Given the description of an element on the screen output the (x, y) to click on. 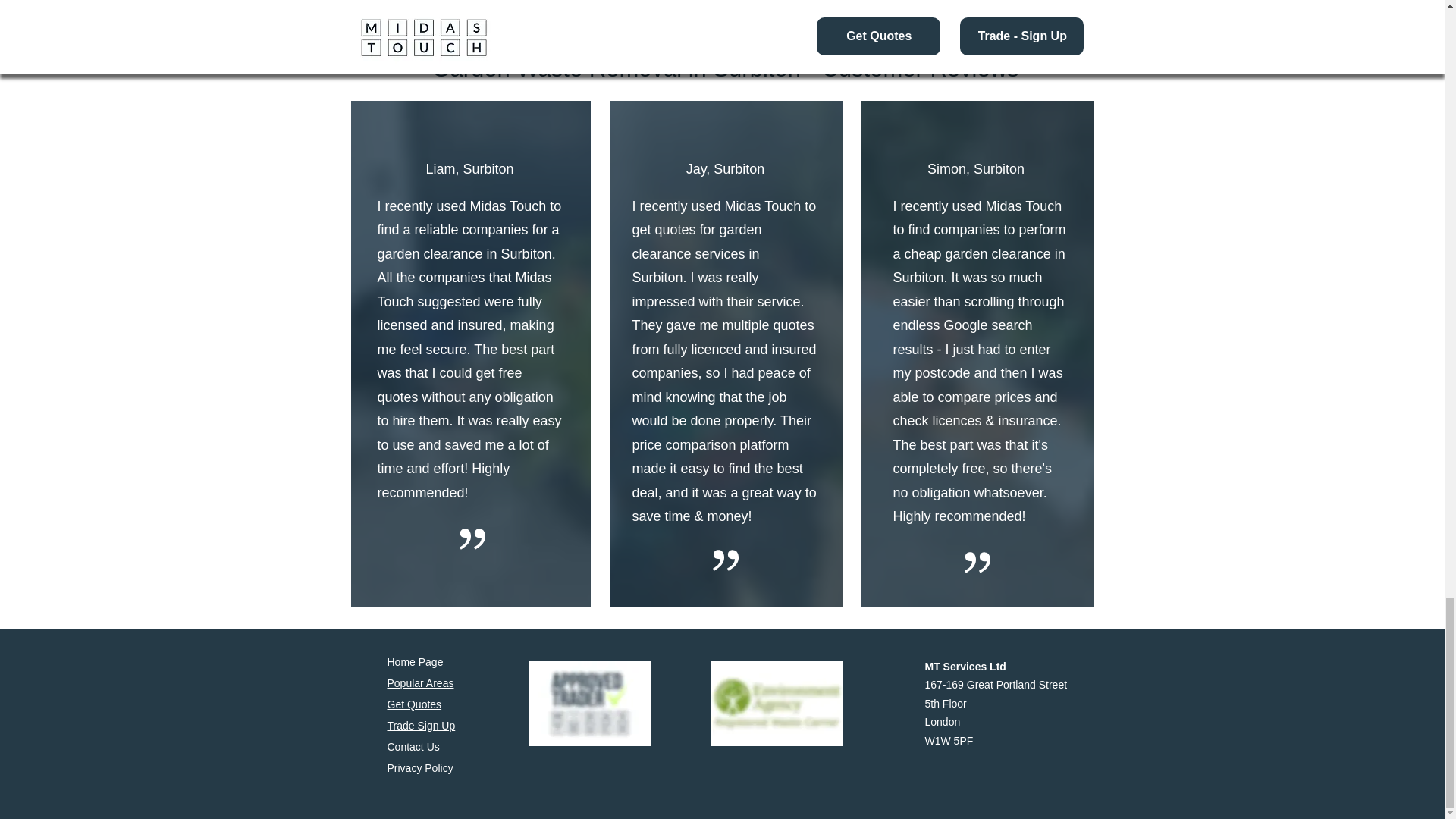
Popular Areas (419, 683)
Check our Waste Carrier Licence (776, 703)
Privacy Policy (419, 767)
Become an Approved Trader Today! (589, 703)
Home Page (414, 662)
Get Quotes (414, 704)
Contact Us (413, 746)
Trade Sign Up (420, 725)
